Given the description of an element on the screen output the (x, y) to click on. 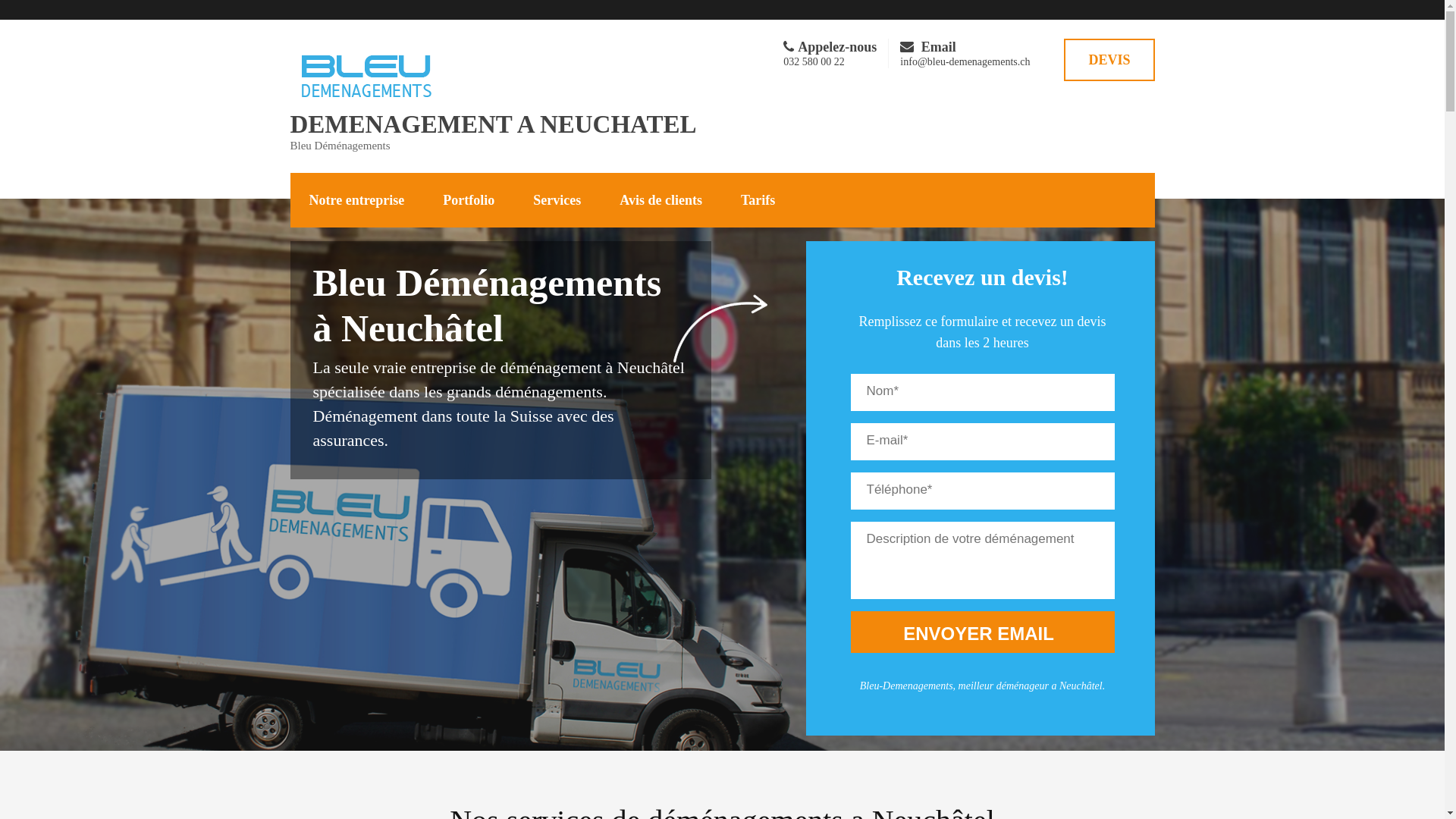
info@bleu-demenagements.ch Element type: text (964, 61)
Portfolio Element type: text (468, 199)
Tarifs Element type: text (757, 199)
Avis de clients Element type: text (660, 199)
Envoyer Email Element type: text (982, 631)
Notre entreprise Element type: text (356, 199)
DEVIS Element type: text (1108, 59)
DEMENAGEMENT A NEUCHATEL Element type: text (492, 124)
032 580 00 22 Element type: text (813, 61)
Services Element type: text (556, 199)
